Given the description of an element on the screen output the (x, y) to click on. 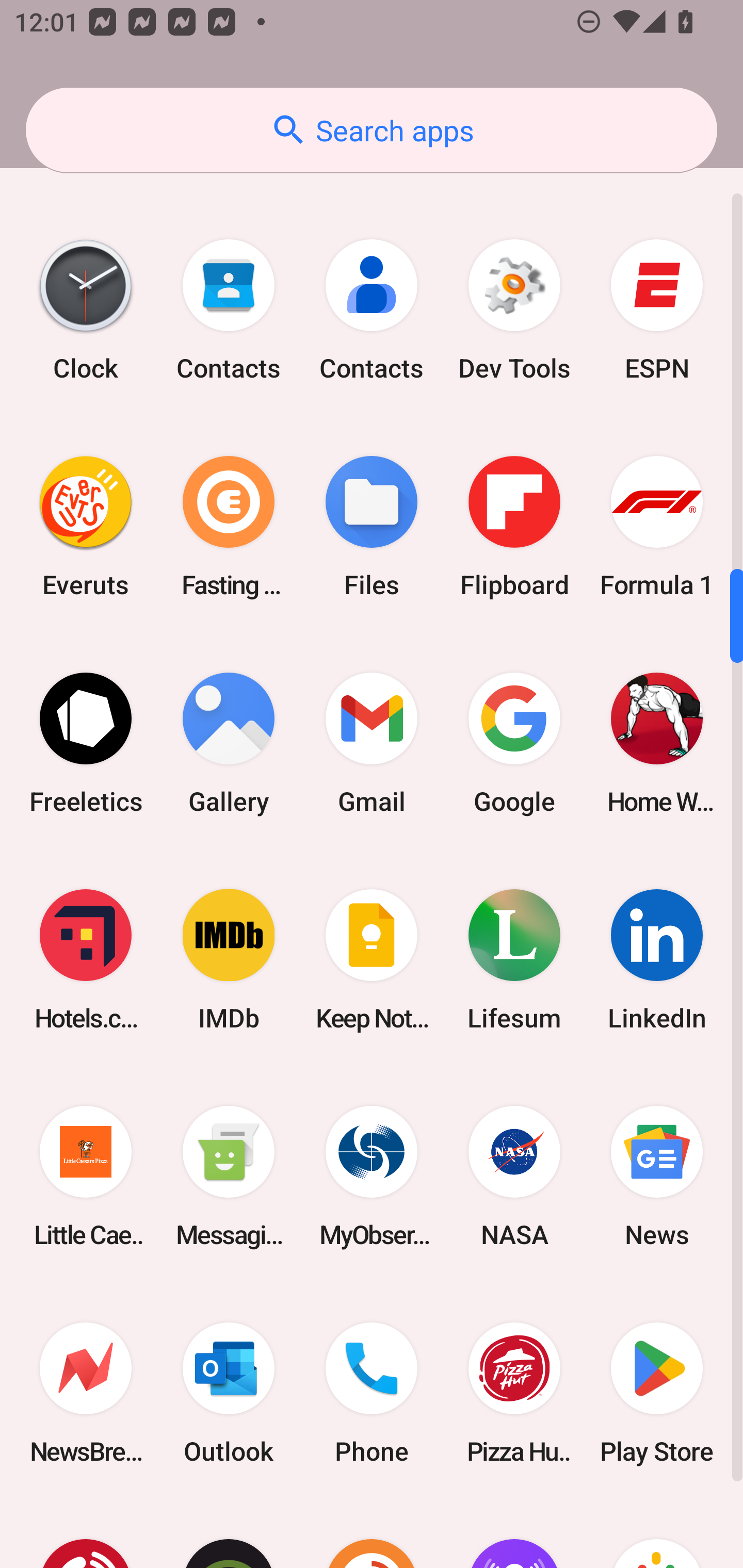
  Search apps (371, 130)
Clock (85, 310)
Contacts (228, 310)
Contacts (371, 310)
Dev Tools (514, 310)
ESPN (656, 310)
Everuts (85, 526)
Fasting Coach (228, 526)
Files (371, 526)
Flipboard (514, 526)
Formula 1 (656, 526)
Freeletics (85, 743)
Gallery (228, 743)
Gmail (371, 743)
Google (514, 743)
Home Workout (656, 743)
Hotels.com (85, 959)
IMDb (228, 959)
Keep Notes (371, 959)
Lifesum (514, 959)
LinkedIn (656, 959)
Little Caesars Pizza (85, 1175)
Messaging (228, 1175)
MyObservatory (371, 1175)
NASA (514, 1175)
News (656, 1175)
NewsBreak (85, 1393)
Outlook (228, 1393)
Phone (371, 1393)
Pizza Hut HK & Macau (514, 1393)
Play Store (656, 1393)
